Given the description of an element on the screen output the (x, y) to click on. 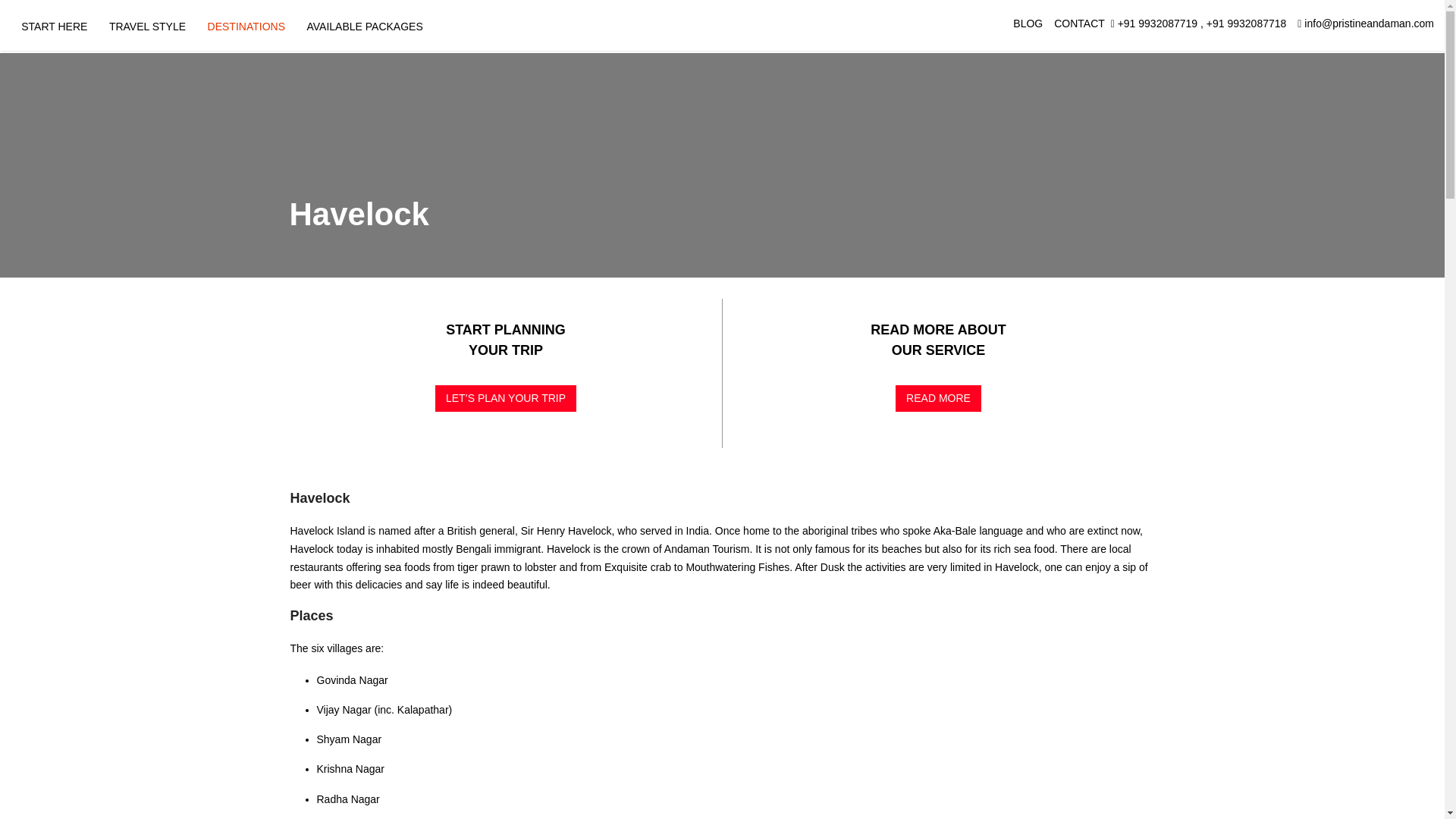
TRAVEL STYLE (147, 27)
AVAILABLE PACKAGES (363, 27)
START HERE (54, 27)
DESTINATIONS (246, 27)
BLOG (1027, 23)
CONTACT (1079, 23)
